Given the description of an element on the screen output the (x, y) to click on. 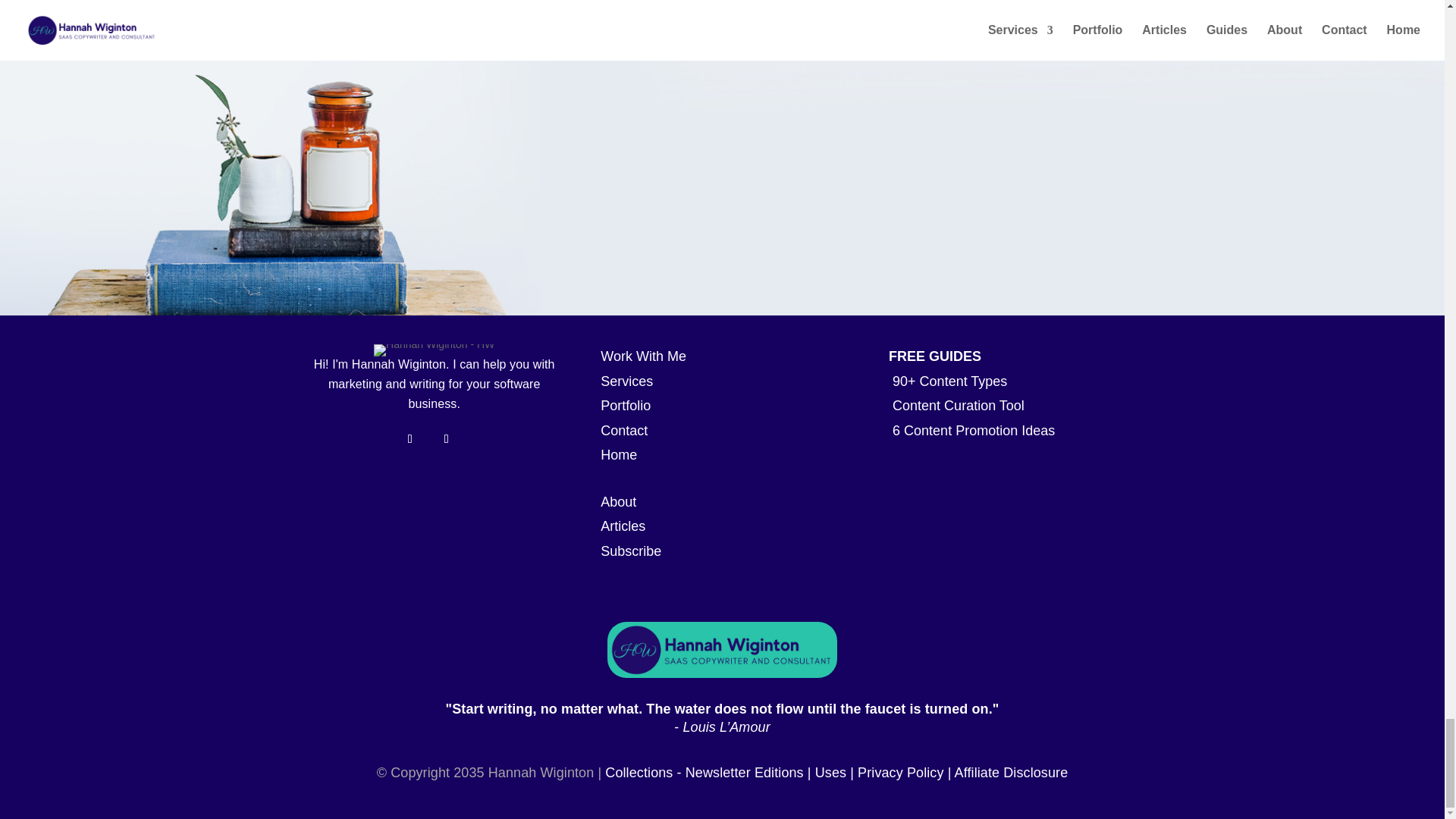
Work With Me (642, 355)
Affiliate Disclosure (1011, 772)
Hannah Wiginton - HW (434, 349)
Follow on LinkedIn (409, 438)
Privacy Policy (900, 772)
Follow on X (445, 438)
